Given the description of an element on the screen output the (x, y) to click on. 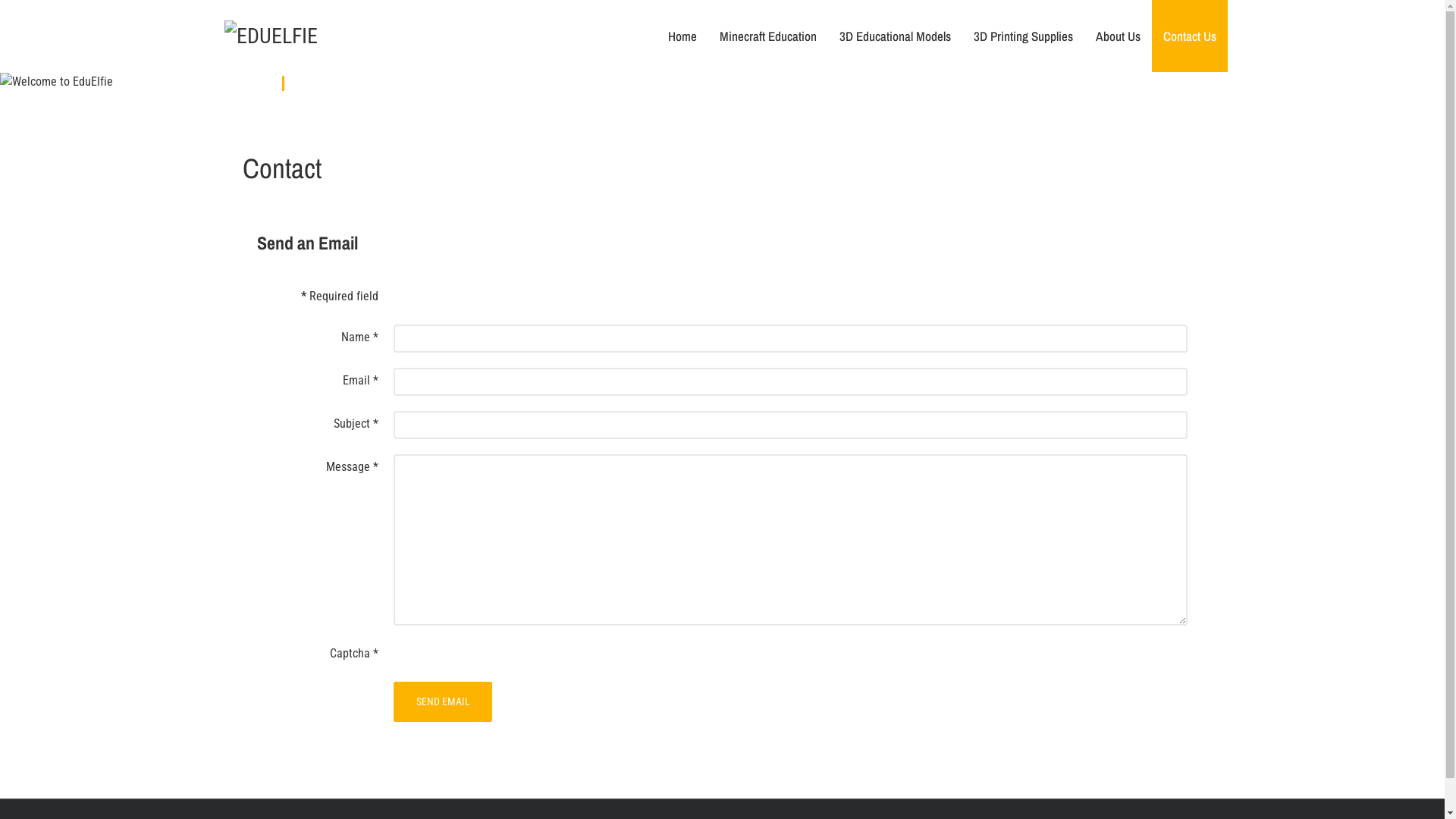
SEND EMAIL Element type: text (442, 701)
Home Element type: text (682, 36)
Minecraft Education Element type: text (768, 36)
EduElfie Element type: hover (270, 34)
3D Printing Supplies Element type: text (1023, 36)
Contact Us Element type: text (1189, 36)
3D Educational Models Element type: text (895, 36)
About Us Element type: text (1117, 36)
